Given the description of an element on the screen output the (x, y) to click on. 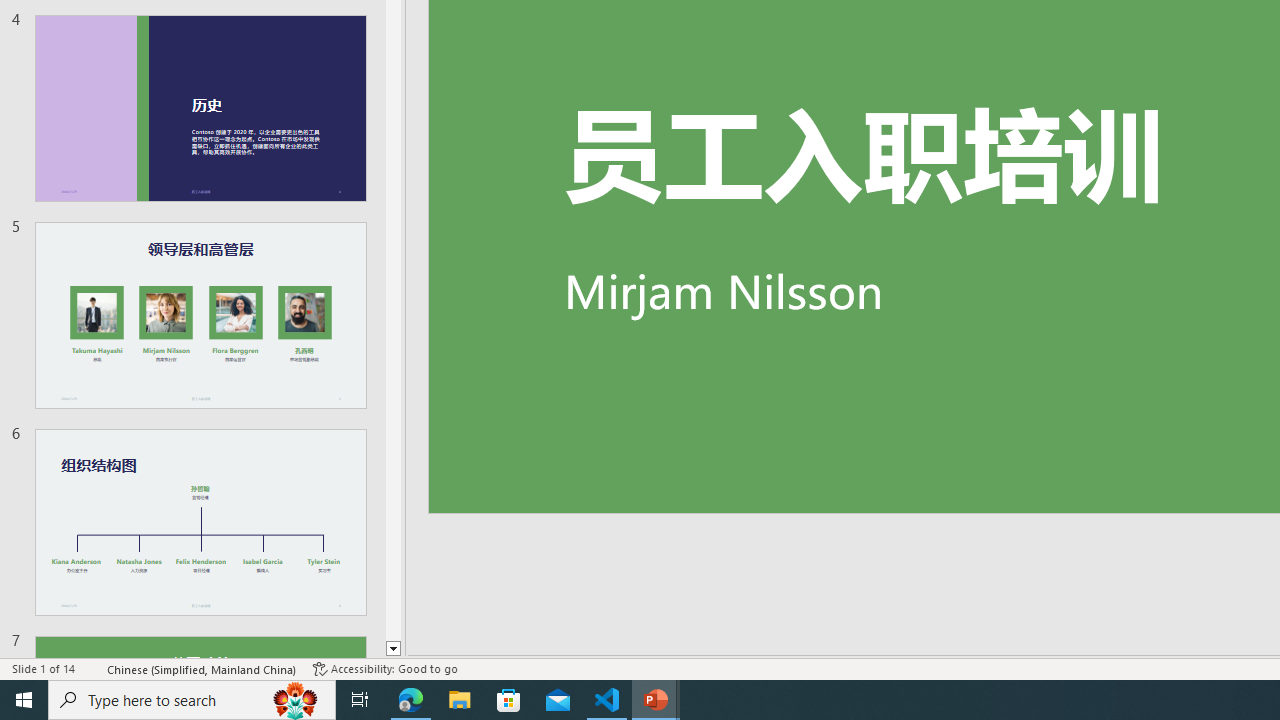
Page Number Page 1 of 1 (55, 640)
